Given the description of an element on the screen output the (x, y) to click on. 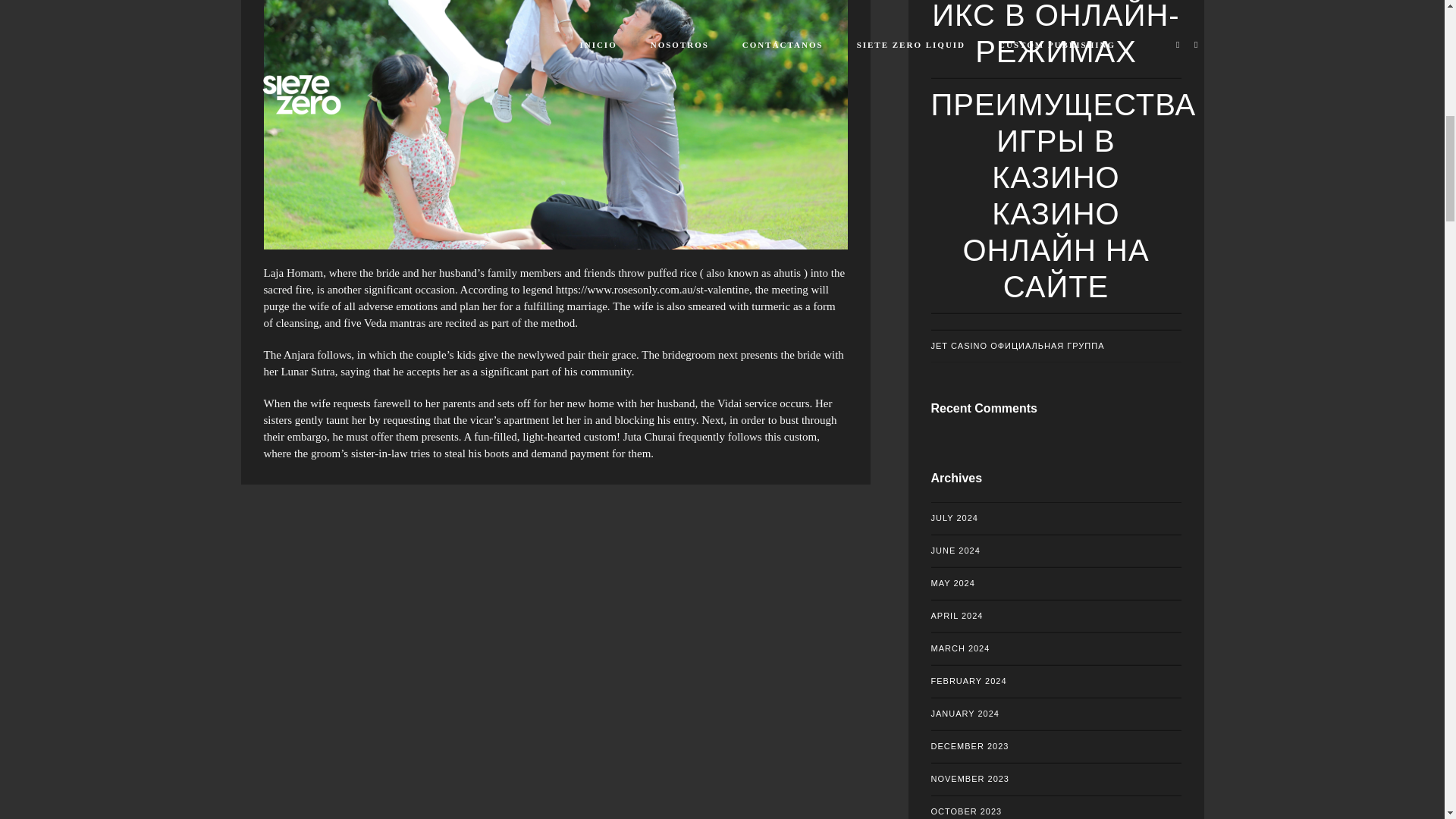
JANUARY 2024 (1055, 713)
MARCH 2024 (1055, 648)
MAY 2024 (1055, 583)
FEBRUARY 2024 (1055, 681)
JULY 2024 (1055, 518)
APRIL 2024 (1055, 615)
NOVEMBER 2023 (1055, 778)
DECEMBER 2023 (1055, 746)
JUNE 2024 (1055, 550)
OCTOBER 2023 (1055, 807)
